Given the description of an element on the screen output the (x, y) to click on. 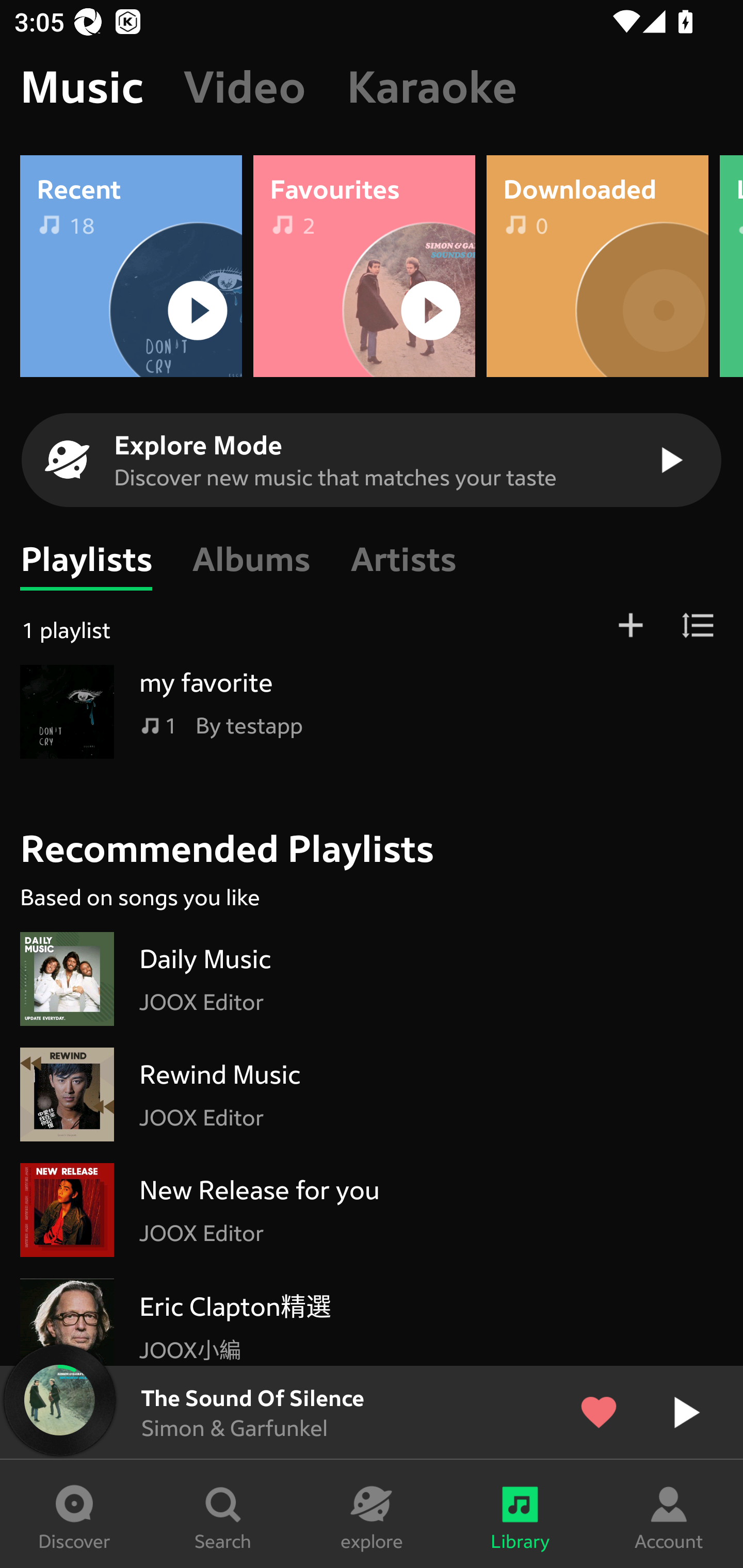
Video (244, 86)
Karaoke (431, 86)
Recent 18 (131, 265)
Favourites 2 (364, 265)
Downloaded 0 (597, 265)
Albums (251, 558)
Artists (403, 558)
1 playlist (371, 626)
my favorite 1 By testapp (371, 711)
Recommended Playlists Based on songs you like (381, 845)
Daily Music JOOX Editor (371, 978)
Rewind Music JOOX Editor (371, 1094)
New Release for you JOOX Editor (371, 1210)
Eric Clapton精選 JOOX小編 (371, 1316)
The Sound Of Silence Simon & Garfunkel (371, 1412)
Discover (74, 1513)
Search (222, 1513)
explore (371, 1513)
Account (668, 1513)
